Given the description of an element on the screen output the (x, y) to click on. 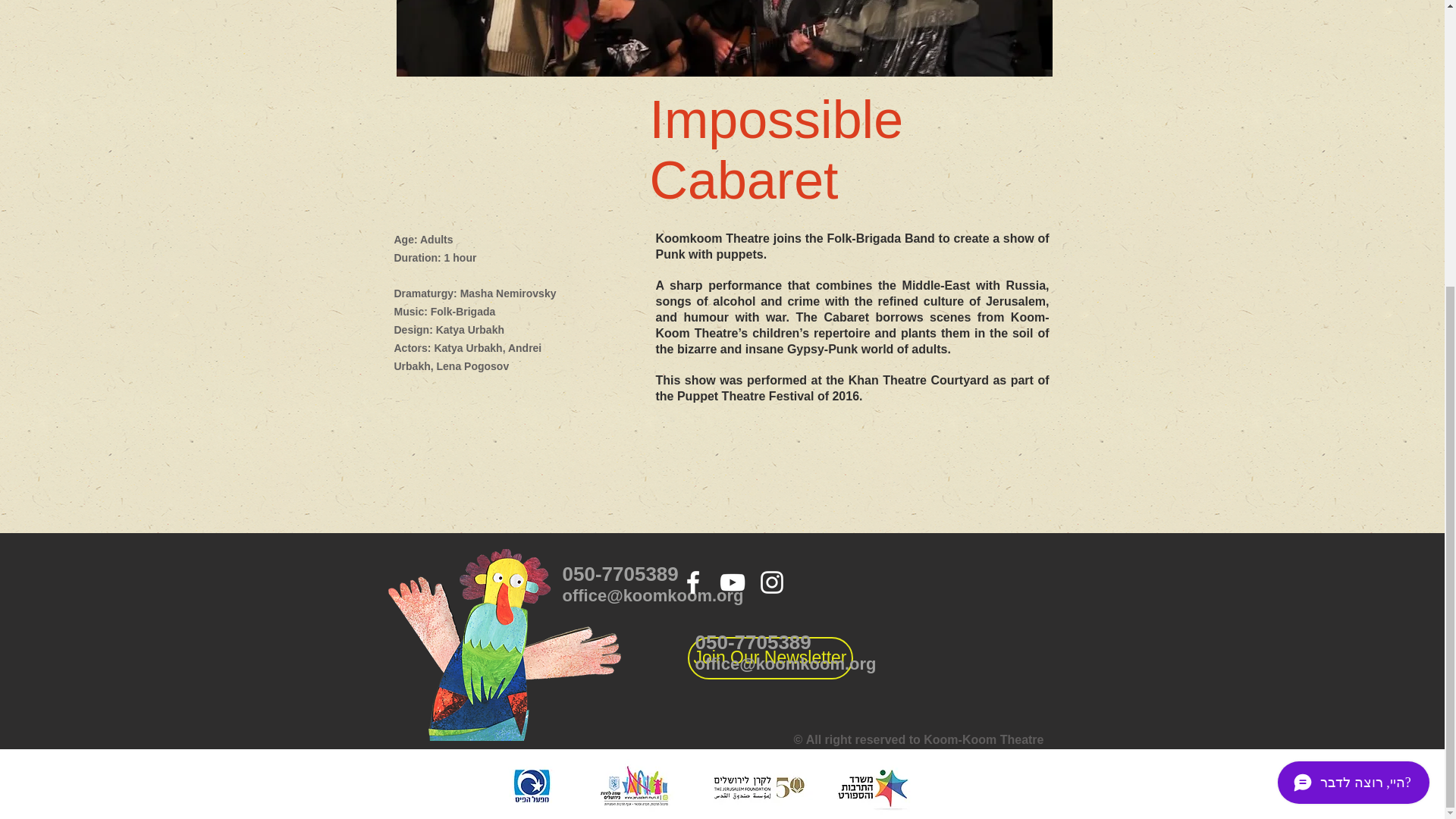
Join Our Newsletter (769, 658)
